Given the description of an element on the screen output the (x, y) to click on. 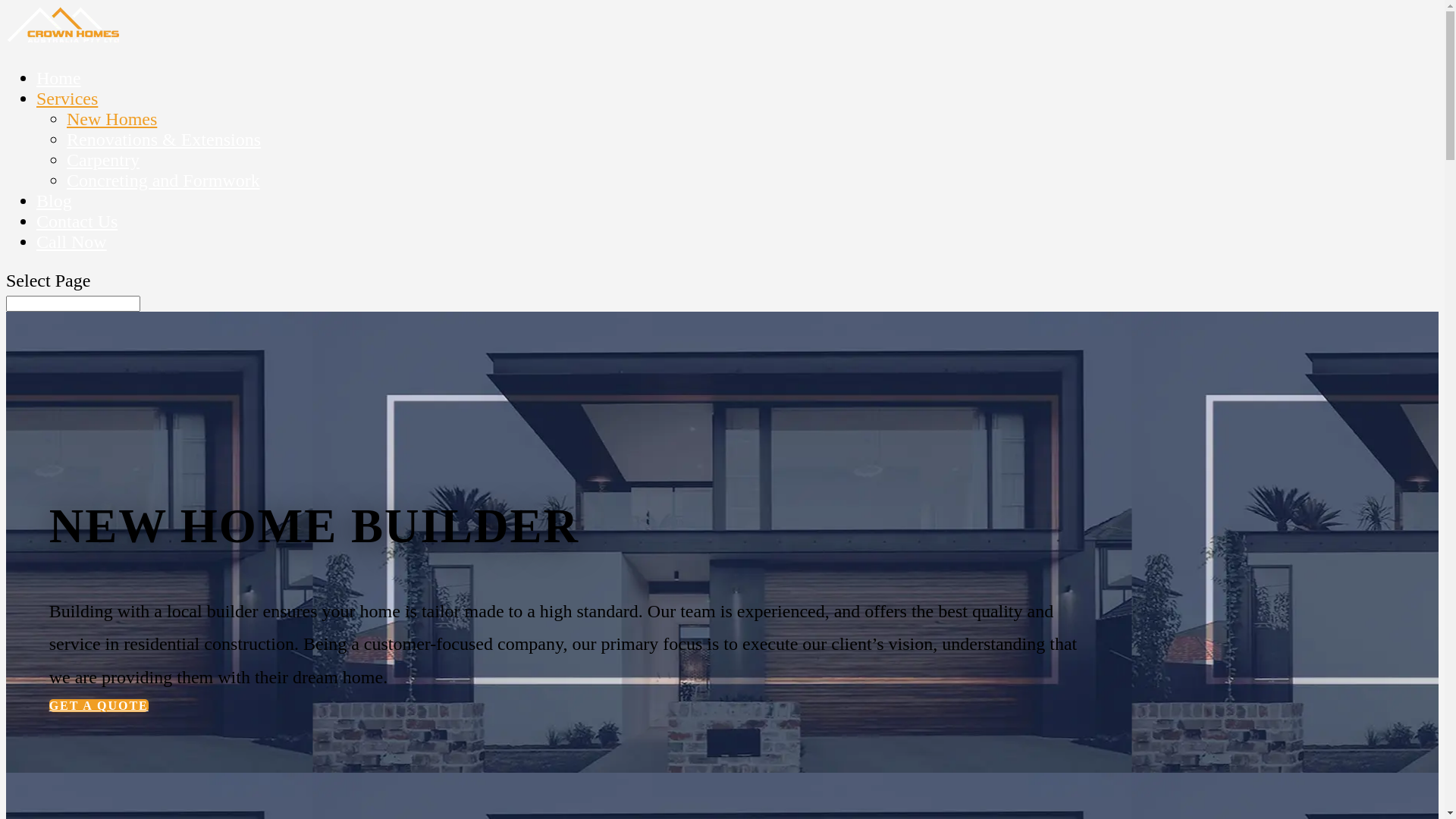
New Homes Element type: text (111, 118)
Carpentry Element type: text (102, 159)
Services Element type: text (66, 98)
Home Element type: text (58, 77)
Concreting and Formwork Element type: text (163, 180)
Search for: Element type: hover (73, 303)
Contact Us Element type: text (76, 221)
Call Now Element type: text (71, 241)
Blog Element type: text (54, 200)
GET A QUOTE Element type: text (98, 705)
Renovations & Extensions Element type: text (163, 139)
